Given the description of an element on the screen output the (x, y) to click on. 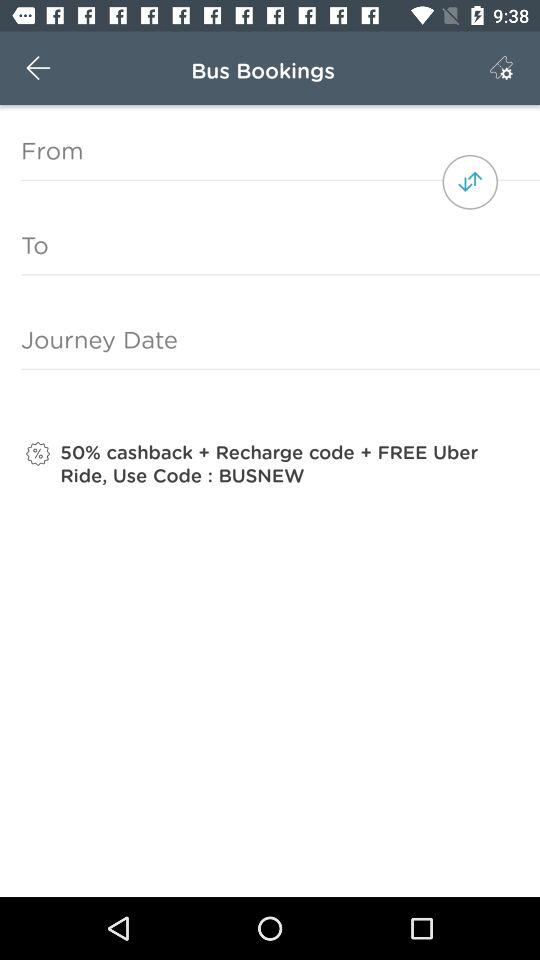
flip until the w icon (38, 68)
